Given the description of an element on the screen output the (x, y) to click on. 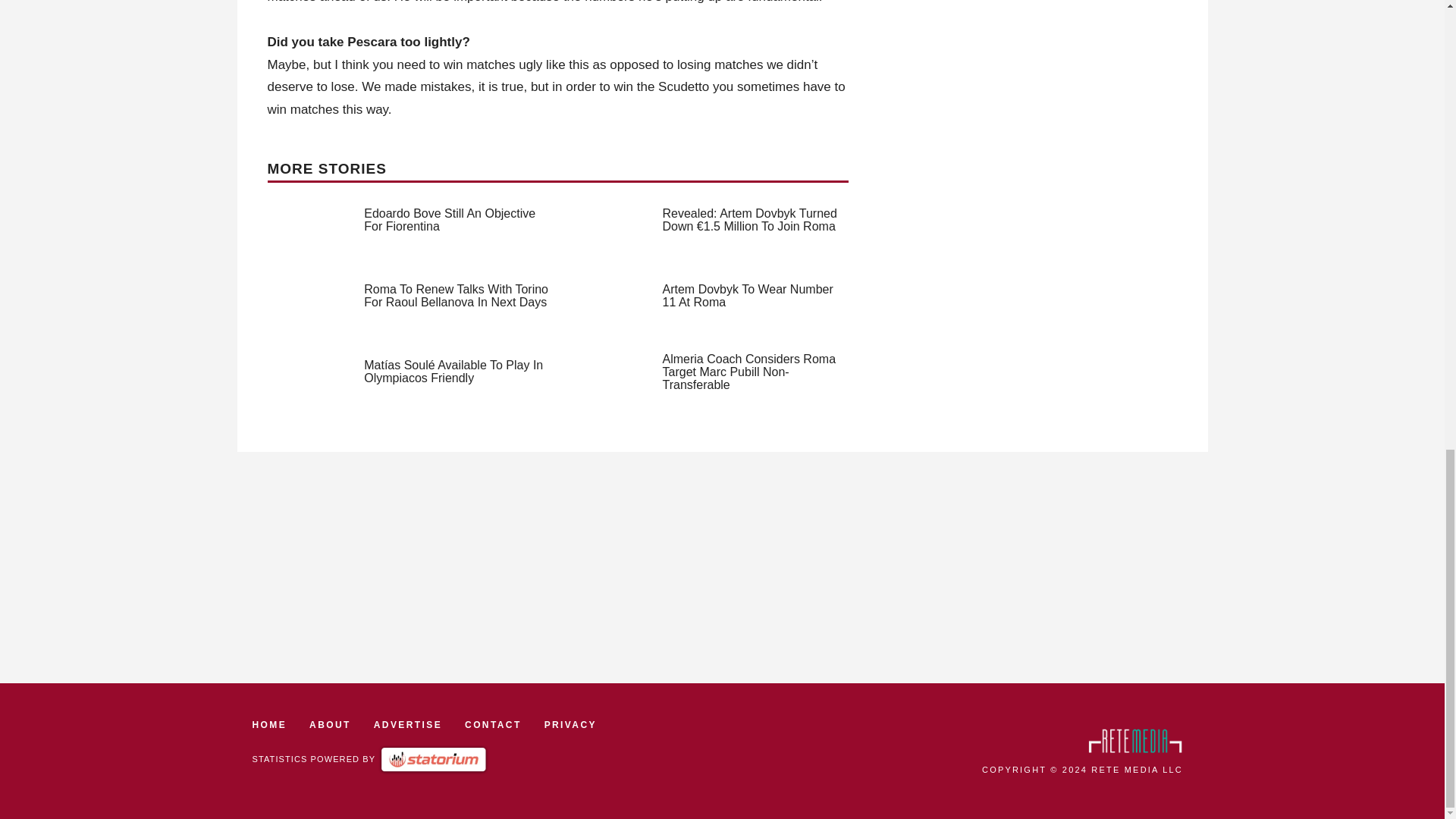
ADVERTISE (408, 725)
HOME (268, 725)
Edoardo Bove Still An Objective For Fiorentina (449, 219)
CONTACT (492, 725)
Artem Dovbyk To Wear Number 11 At Roma (747, 295)
ABOUT (329, 725)
PRIVACY (570, 725)
